Given the description of an element on the screen output the (x, y) to click on. 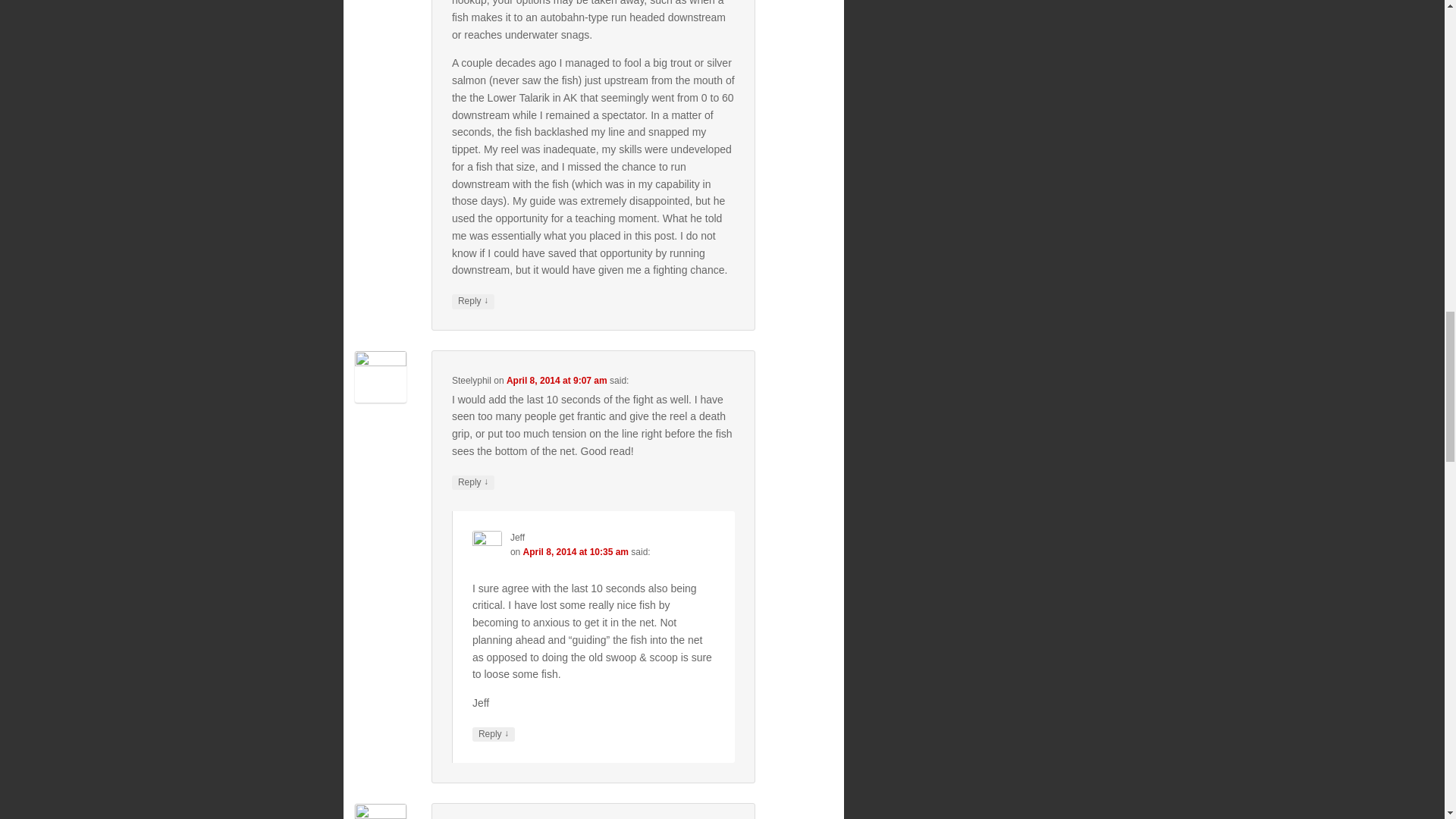
April 8, 2014 at 9:07 am (556, 380)
